Given the description of an element on the screen output the (x, y) to click on. 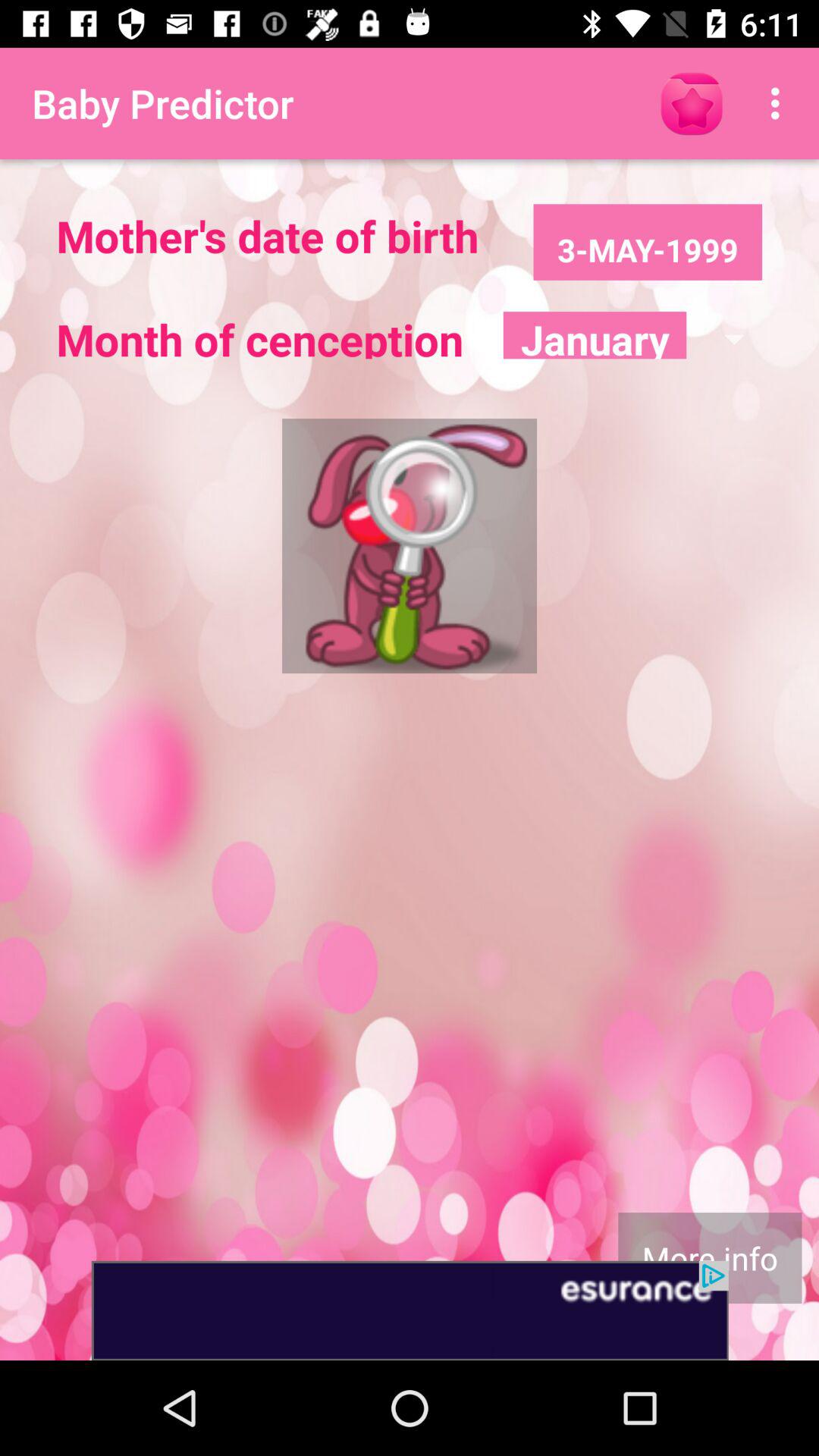
go next (409, 1310)
